Given the description of an element on the screen output the (x, y) to click on. 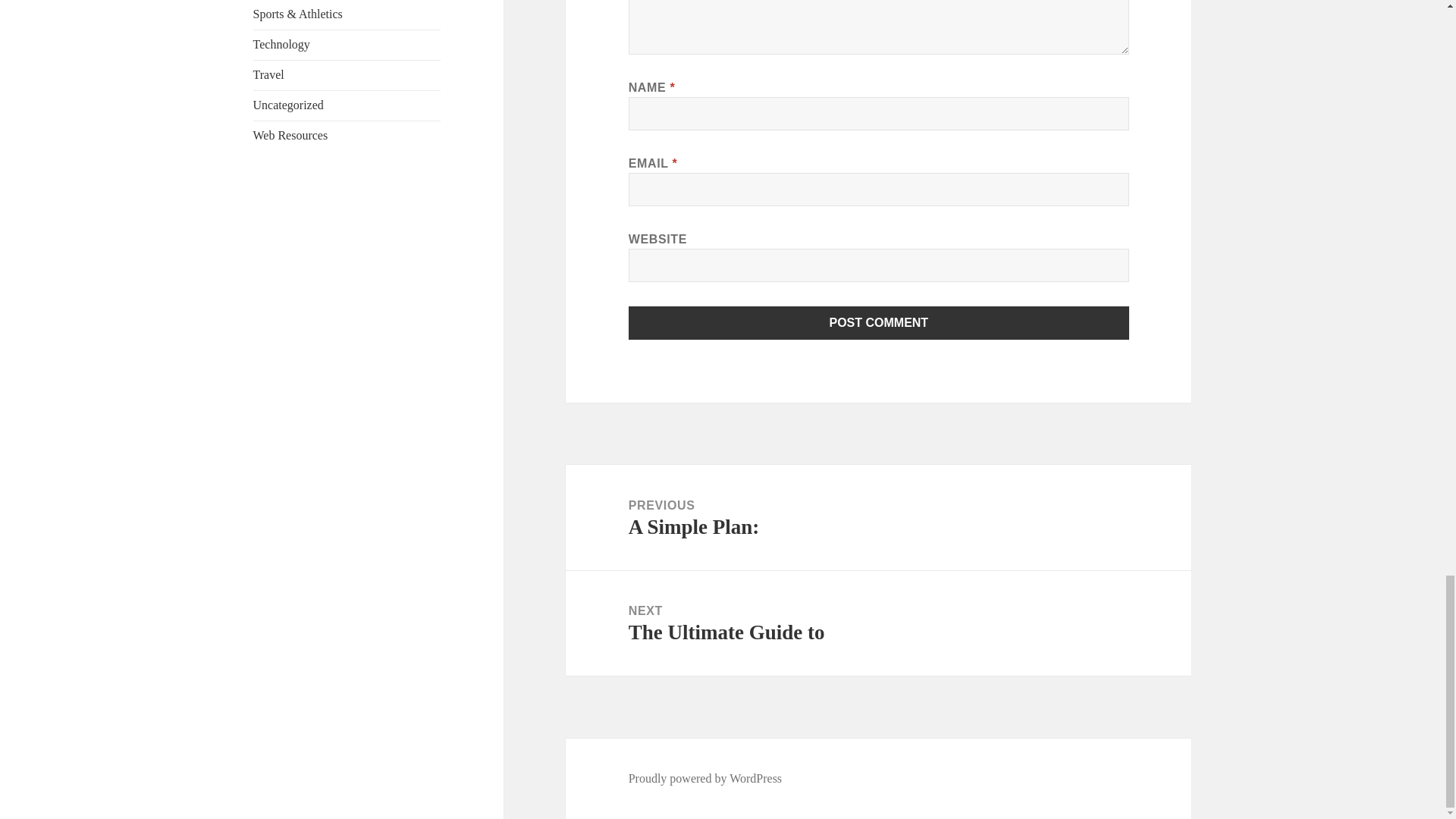
Post Comment (878, 322)
